Given the description of an element on the screen output the (x, y) to click on. 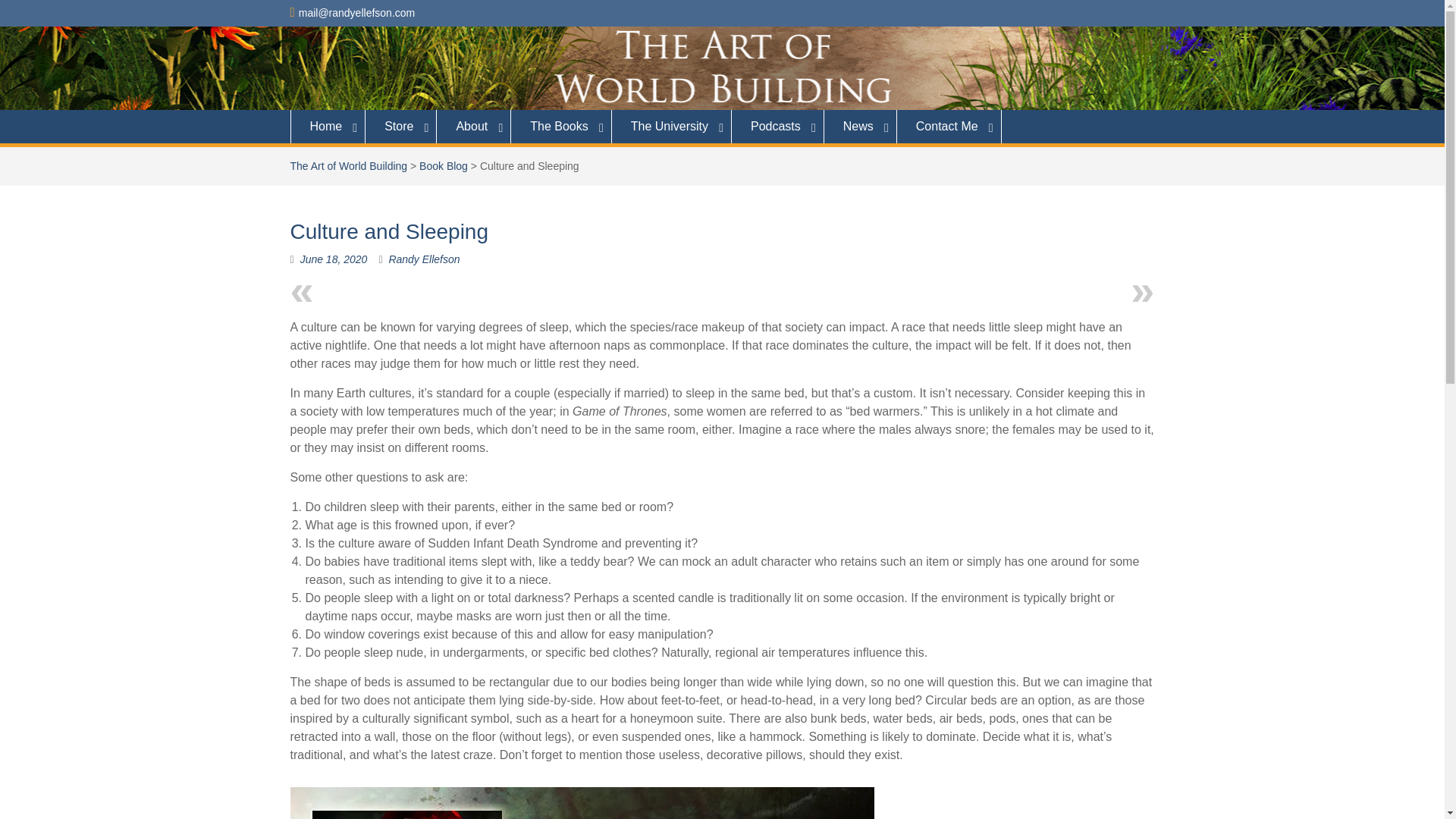
About (473, 126)
The University (671, 126)
The Books (561, 126)
News (860, 126)
Contact Me (948, 126)
Home (327, 126)
Store (400, 126)
Podcasts (778, 126)
